Given the description of an element on the screen output the (x, y) to click on. 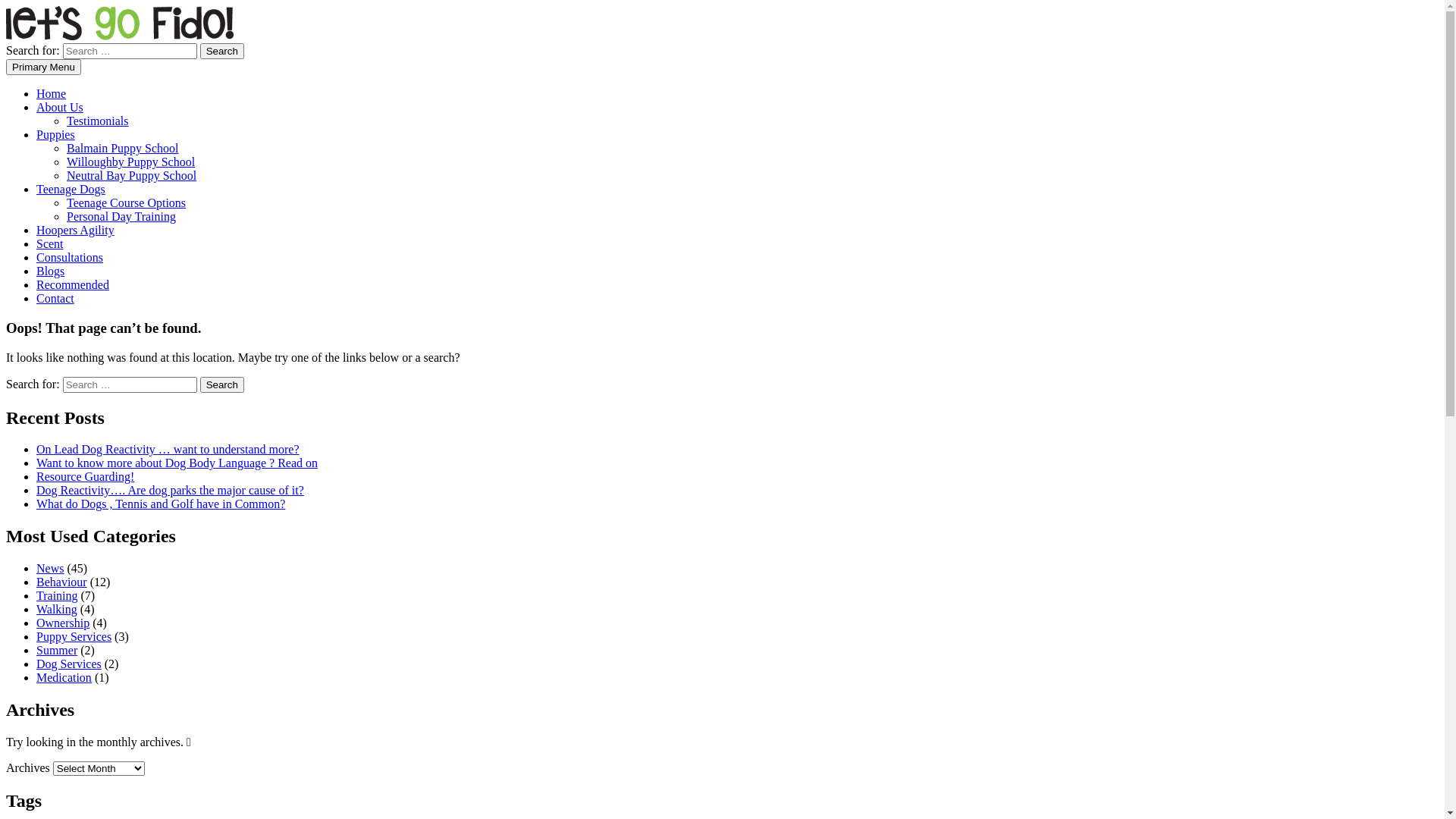
Home Element type: text (50, 93)
Personal Day Training Element type: text (120, 216)
Primary Menu Element type: text (43, 67)
Testimonials Element type: text (97, 120)
What do Dogs , Tennis and Golf have in Common? Element type: text (160, 503)
Scent Element type: text (49, 243)
Puppies Element type: text (55, 134)
Want to know more about Dog Body Language ? Read on Element type: text (176, 462)
Summer Element type: text (56, 649)
Walking Element type: text (56, 608)
Puppy Services Element type: text (73, 636)
Search Element type: text (222, 384)
Contact Element type: text (55, 297)
Willoughby Puppy School Element type: text (130, 161)
Medication Element type: text (63, 677)
News Element type: text (49, 567)
Balmain Puppy School Element type: text (122, 147)
Training Element type: text (57, 595)
Dog Services Element type: text (68, 663)
Search Element type: text (222, 51)
Recommended Element type: text (72, 284)
Hoopers Agility Element type: text (75, 229)
Blogs Element type: text (50, 270)
Resource Guarding! Element type: text (85, 476)
Ownership Element type: text (62, 622)
Teenage Course Options Element type: text (125, 202)
Teenage Dogs Element type: text (70, 188)
About Us Element type: text (59, 106)
Behaviour Element type: text (61, 581)
Consultations Element type: text (69, 257)
Neutral Bay Puppy School Element type: text (131, 175)
